Given the description of an element on the screen output the (x, y) to click on. 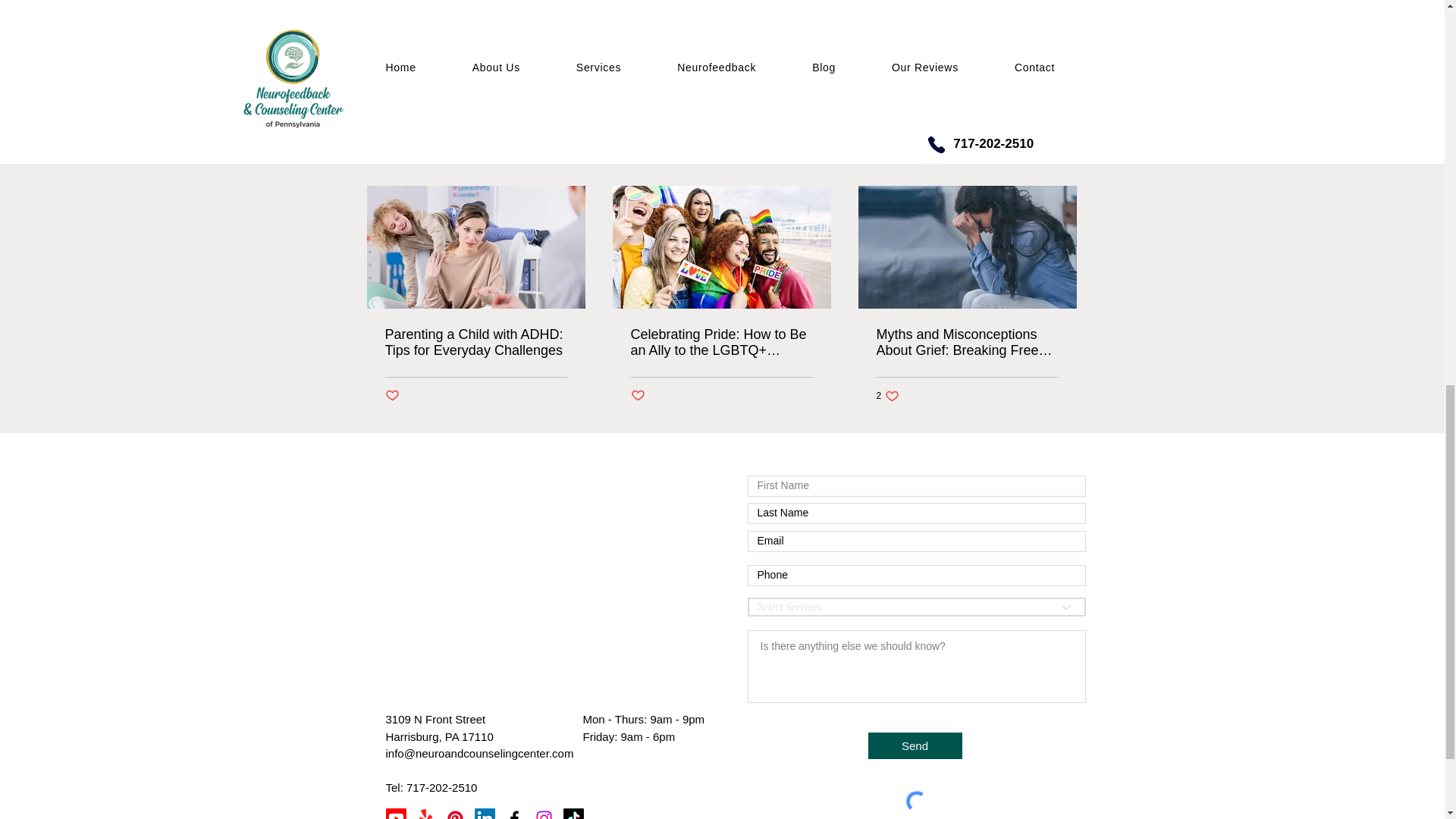
Post not marked as liked (995, 75)
See All (1061, 158)
Parenting a Child with ADHD: Tips for Everyday Challenges (887, 395)
Post not marked as liked (476, 342)
Post not marked as liked (391, 396)
